Given the description of an element on the screen output the (x, y) to click on. 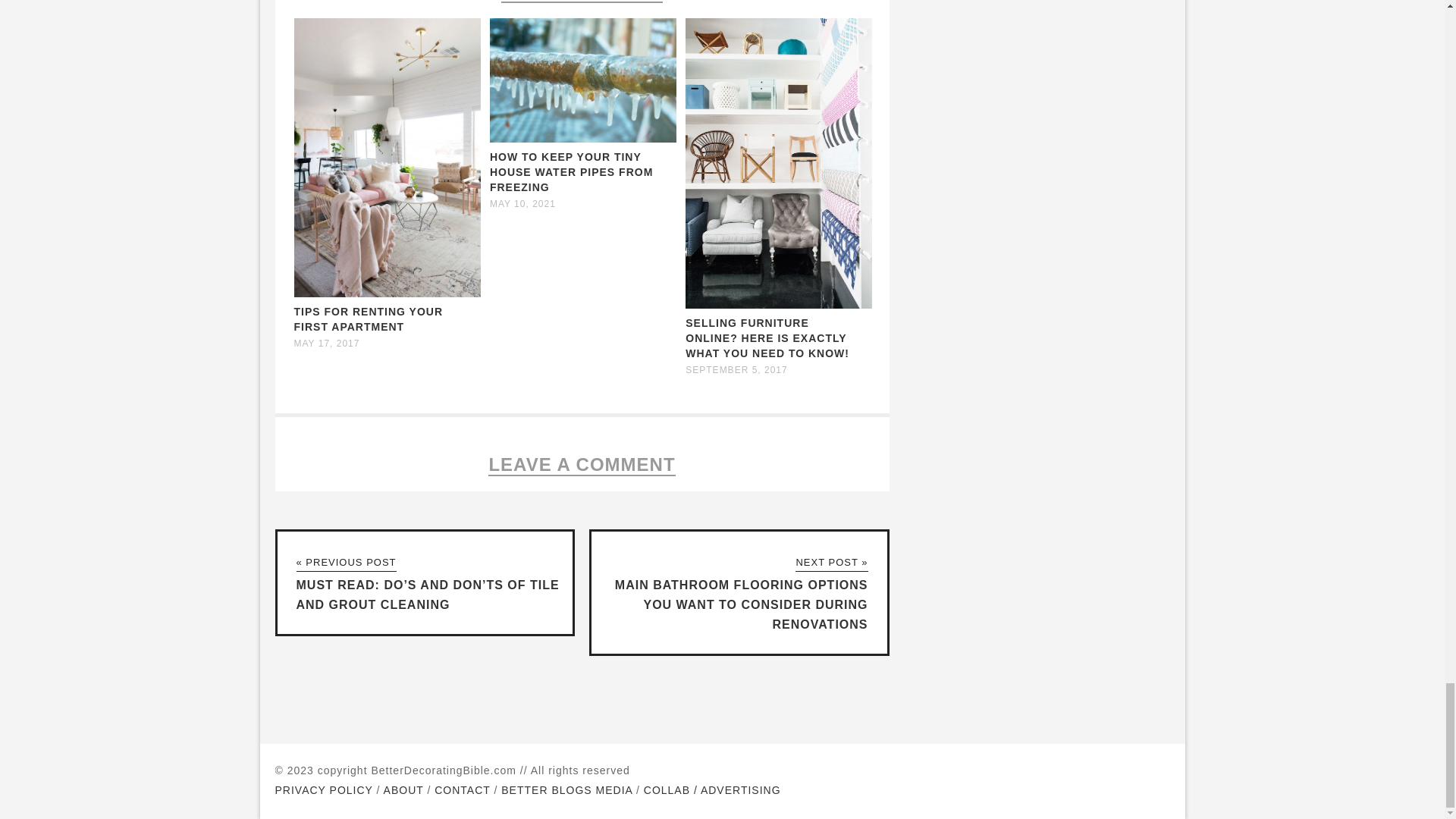
Permanent Link to Tips for Renting Your First Apartment (387, 293)
MAY 17, 2017 (326, 343)
TIPS FOR RENTING YOUR FIRST APARTMENT (369, 318)
Permanent Link to Tips for Renting Your First Apartment (369, 318)
HOW TO KEEP YOUR TINY HOUSE WATER PIPES FROM FREEZING (570, 171)
MAY 10, 2021 (522, 204)
